Given the description of an element on the screen output the (x, y) to click on. 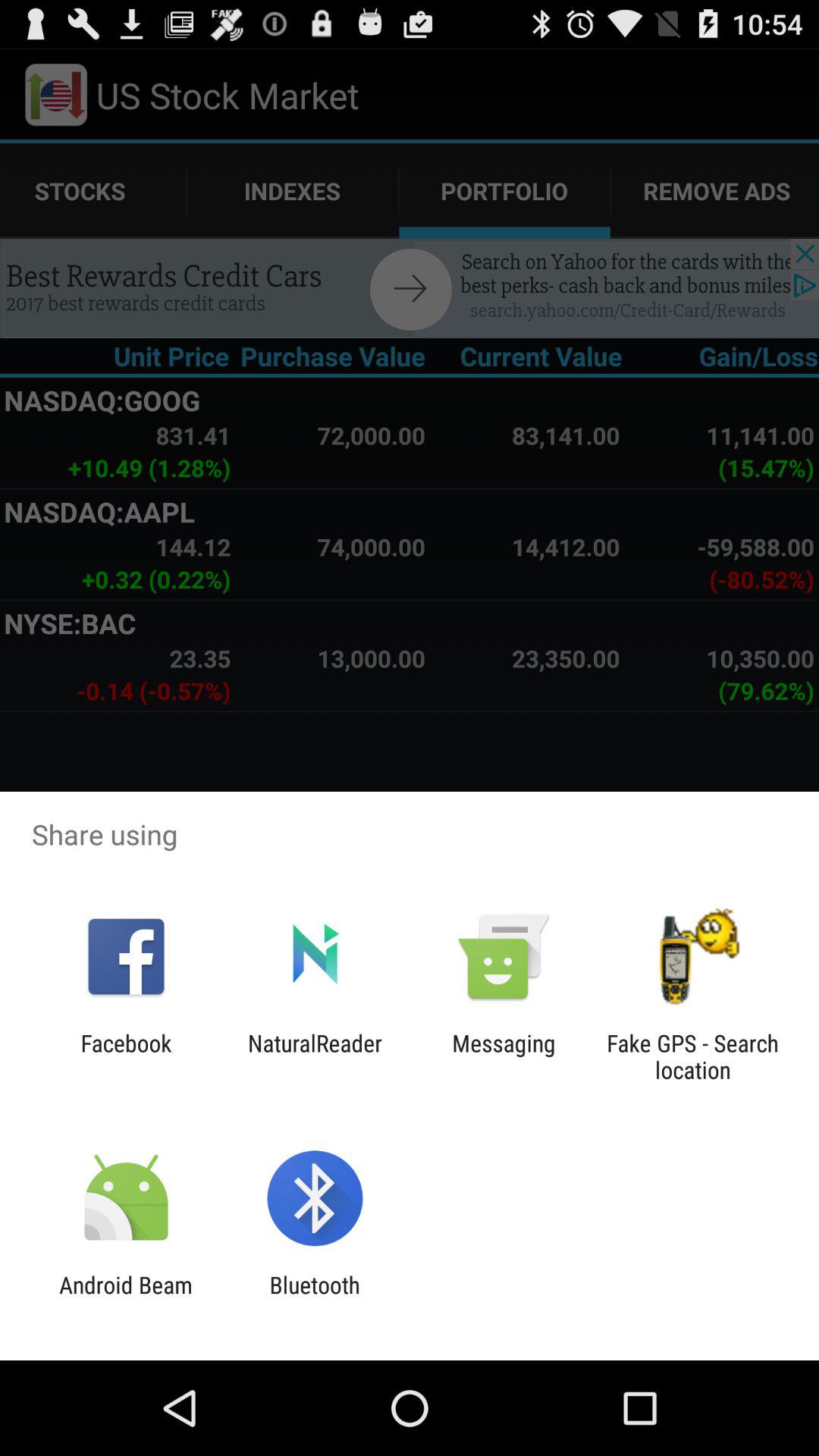
turn on bluetooth item (314, 1298)
